Given the description of an element on the screen output the (x, y) to click on. 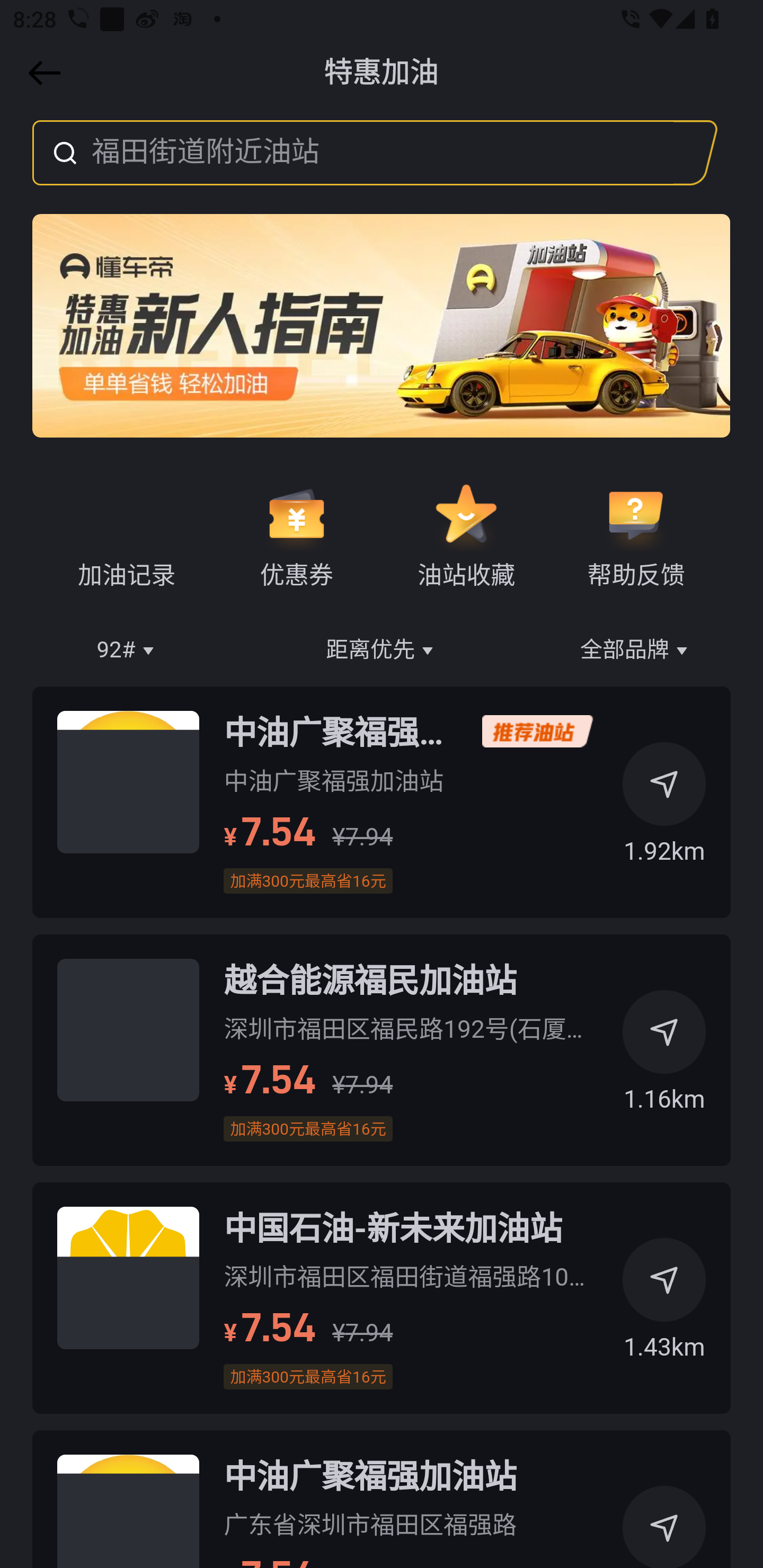
特惠加油 (381, 72)
福田街道附近油站 (352, 152)
加油记录 (127, 535)
优惠券 (296, 535)
油站收藏 (466, 535)
帮助反馈 (635, 535)
92# (127, 650)
距离优先 (381, 650)
全部品牌 (635, 650)
1.92km (664, 809)
1.16km (664, 1058)
1.43km (664, 1306)
